Given the description of an element on the screen output the (x, y) to click on. 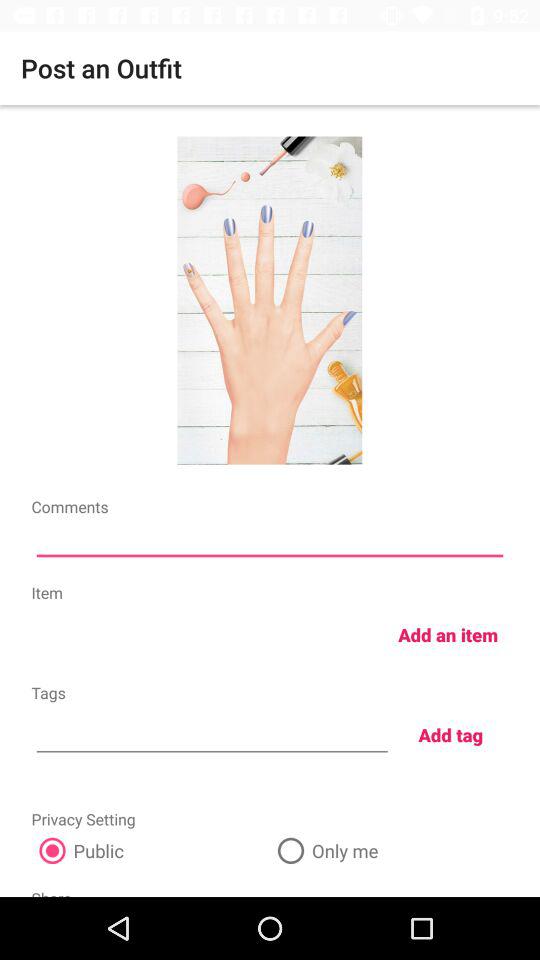
choose the icon to the right of public icon (389, 850)
